Given the description of an element on the screen output the (x, y) to click on. 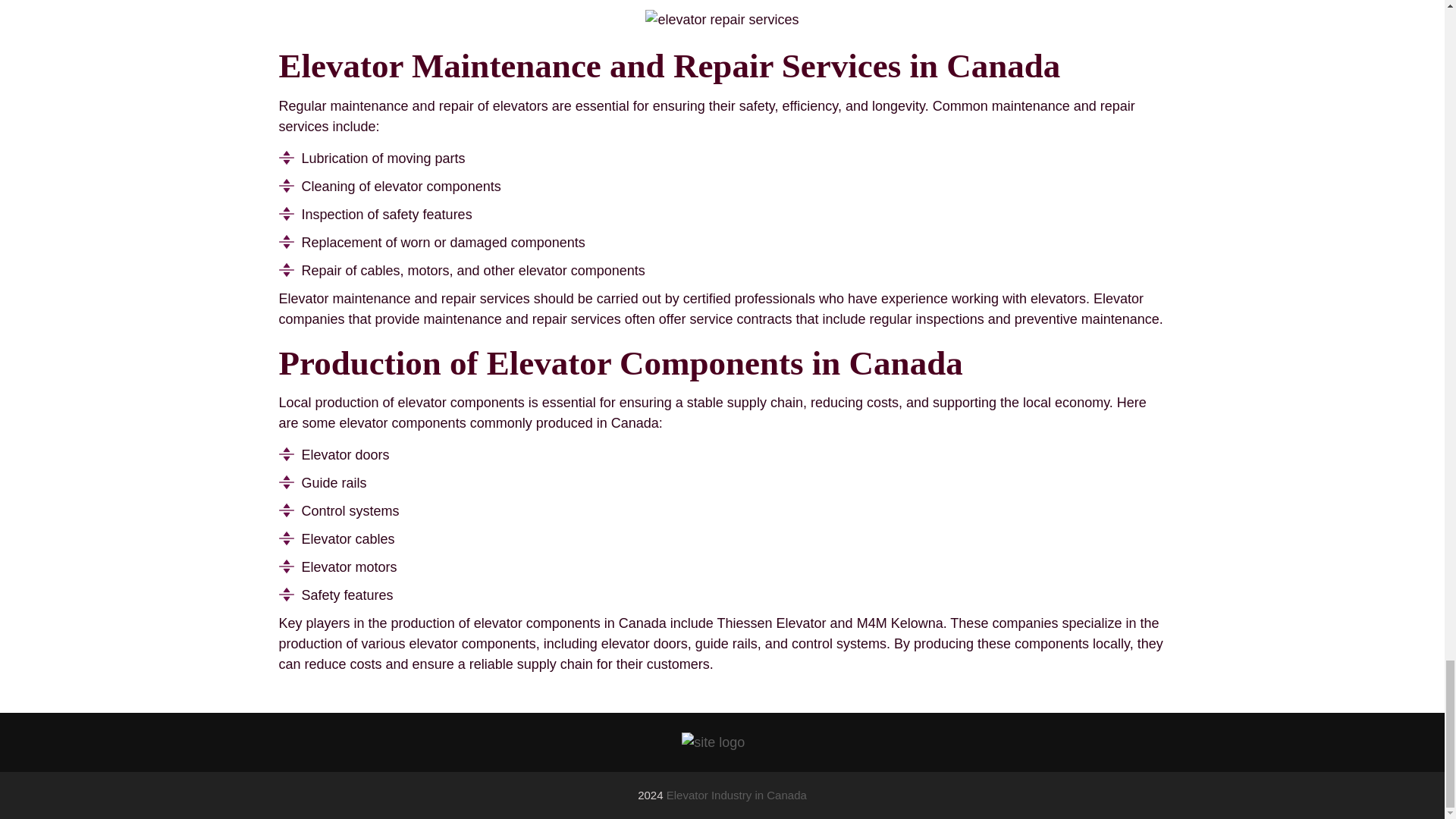
Elevator Industry in Canada (736, 795)
